Given the description of an element on the screen output the (x, y) to click on. 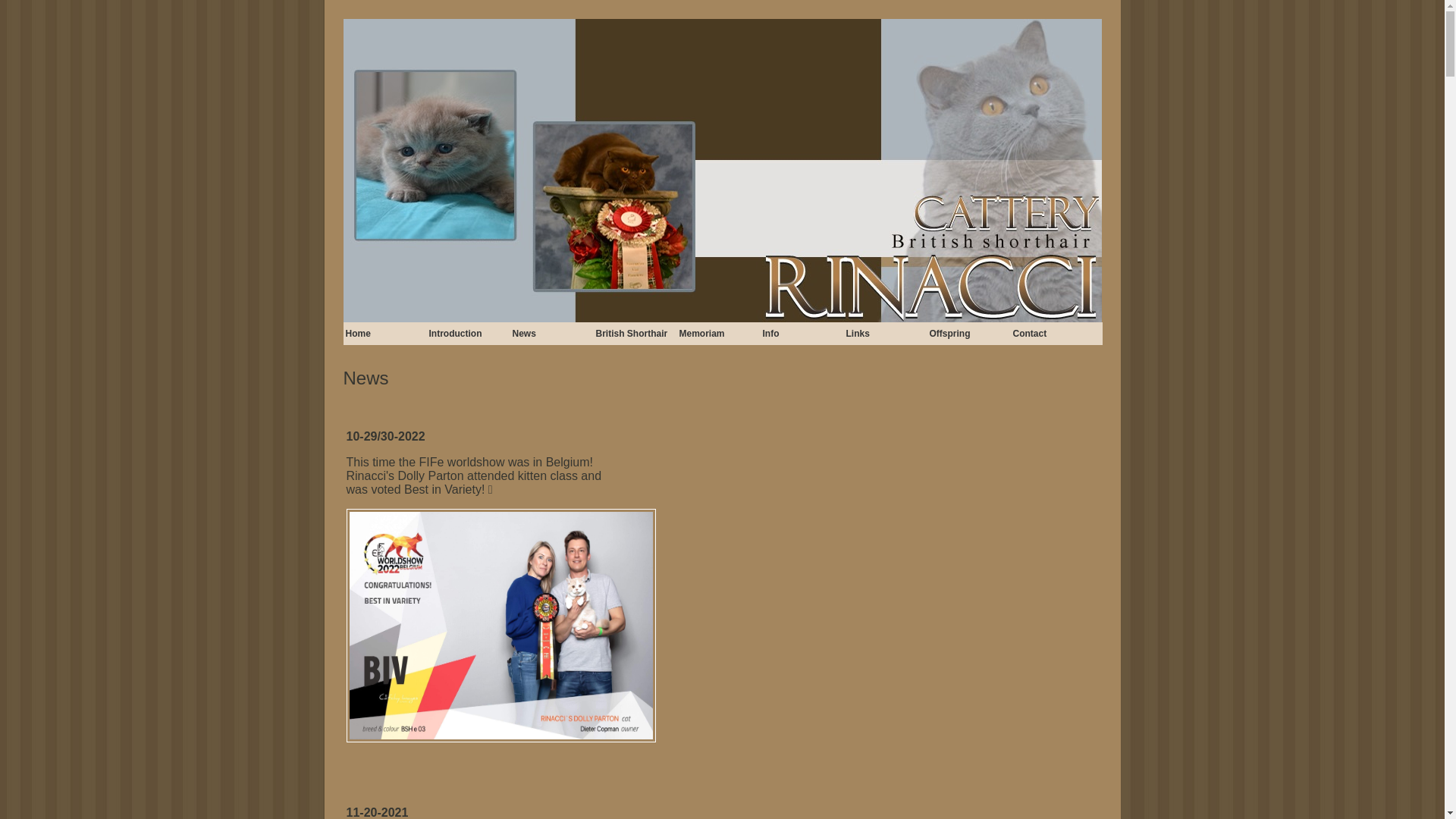
Offspring Element type: text (969, 332)
Contact Element type: text (1052, 332)
Memoriam Element type: text (719, 332)
Links Element type: text (885, 332)
Info Element type: text (802, 332)
British Shorthair Element type: text (635, 332)
News Element type: text (552, 332)
Introduction Element type: text (468, 332)
Home Element type: text (385, 332)
